Given the description of an element on the screen output the (x, y) to click on. 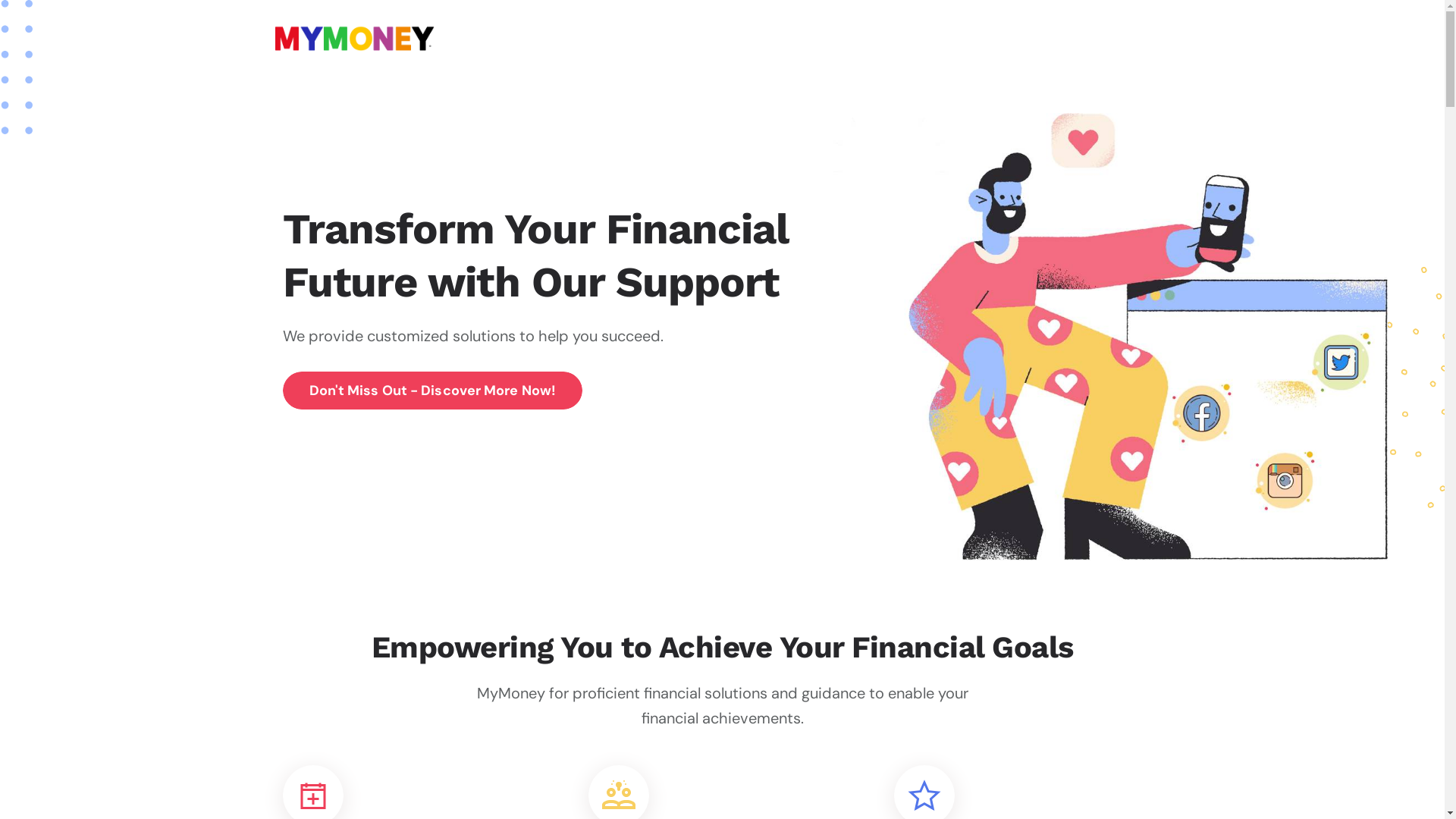
Don'T Miss Out - Discover More Now! Element type: text (432, 390)
